Given the description of an element on the screen output the (x, y) to click on. 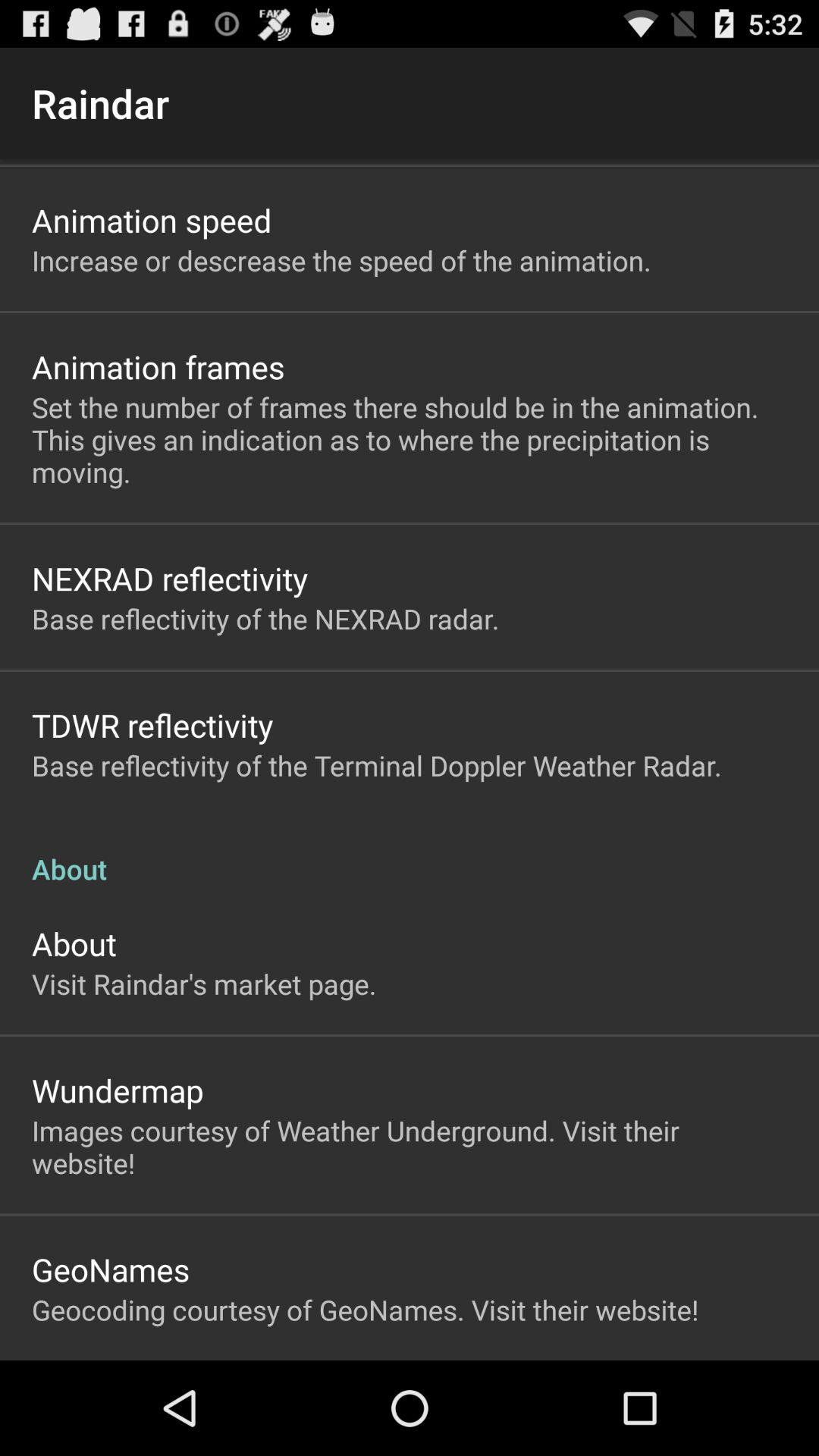
swipe to wundermap item (117, 1089)
